Given the description of an element on the screen output the (x, y) to click on. 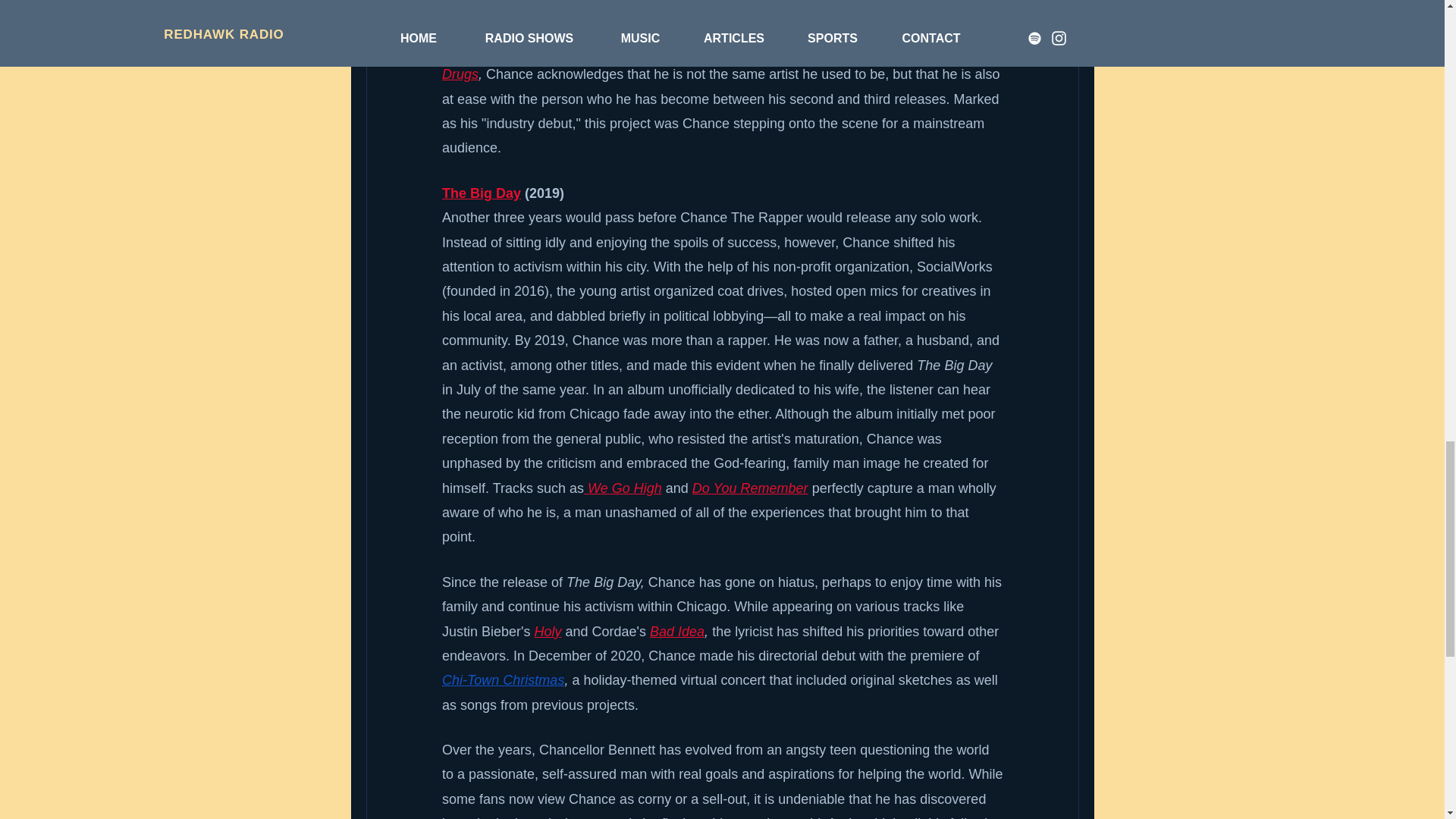
Same Drugs (709, 61)
We Go High (625, 488)
Holy (547, 631)
Do You Remember (749, 488)
The Big Day (480, 192)
Bad Idea (676, 631)
Chi-Town Christmas (502, 679)
